Given the description of an element on the screen output the (x, y) to click on. 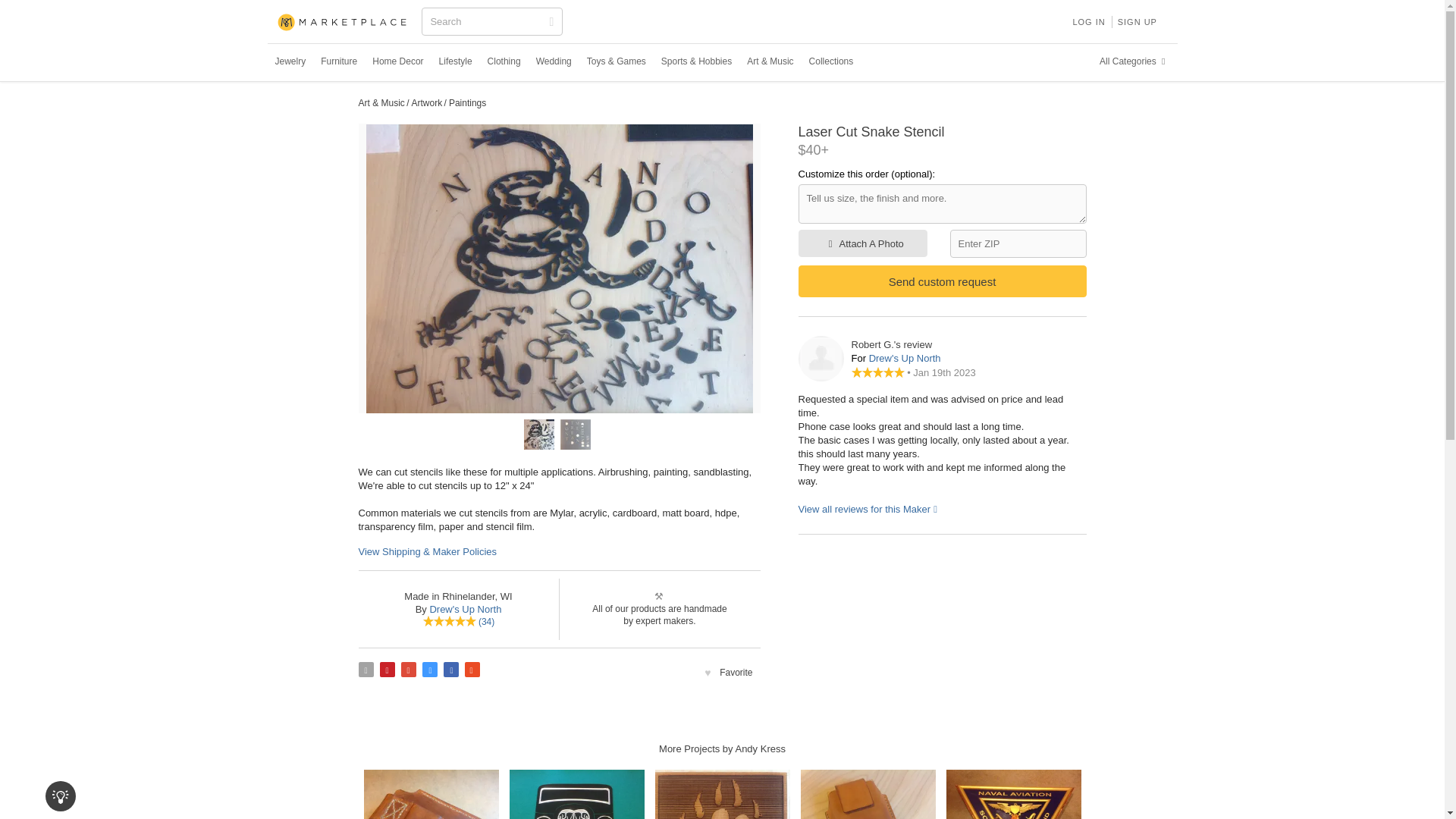
SIGN UP (1137, 21)
Jewelry (289, 61)
LOG IN (1087, 21)
All Categories (1134, 61)
Log in to CustomMade (1087, 21)
Custom Jewelry (289, 61)
CUSTOMMADE (342, 22)
